Given the description of an element on the screen output the (x, y) to click on. 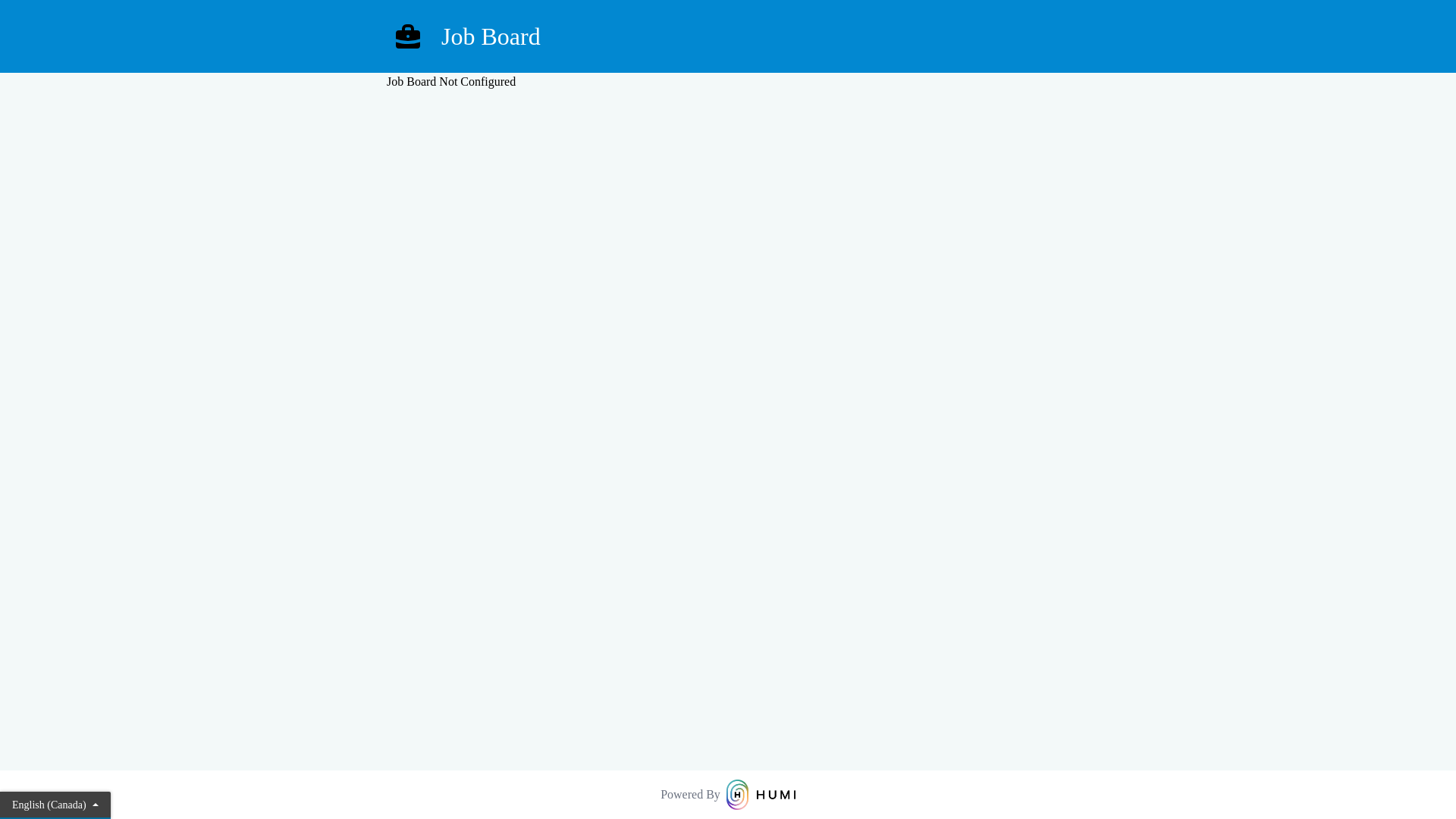
Powered By Element type: text (727, 794)
Job Board Element type: text (727, 36)
